Given the description of an element on the screen output the (x, y) to click on. 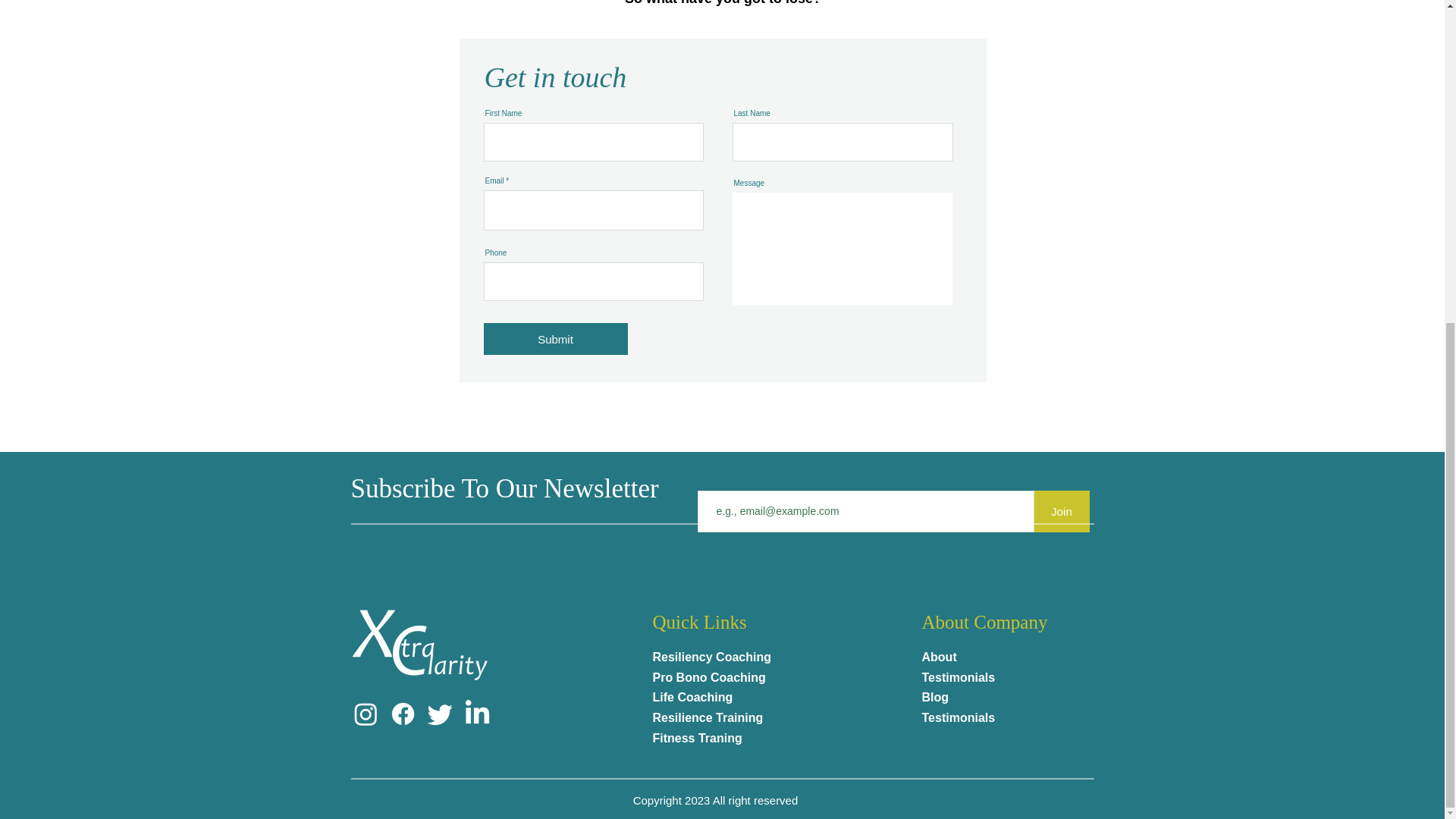
Mask group.png (421, 646)
Join (1061, 511)
Submit (555, 338)
